Given the description of an element on the screen output the (x, y) to click on. 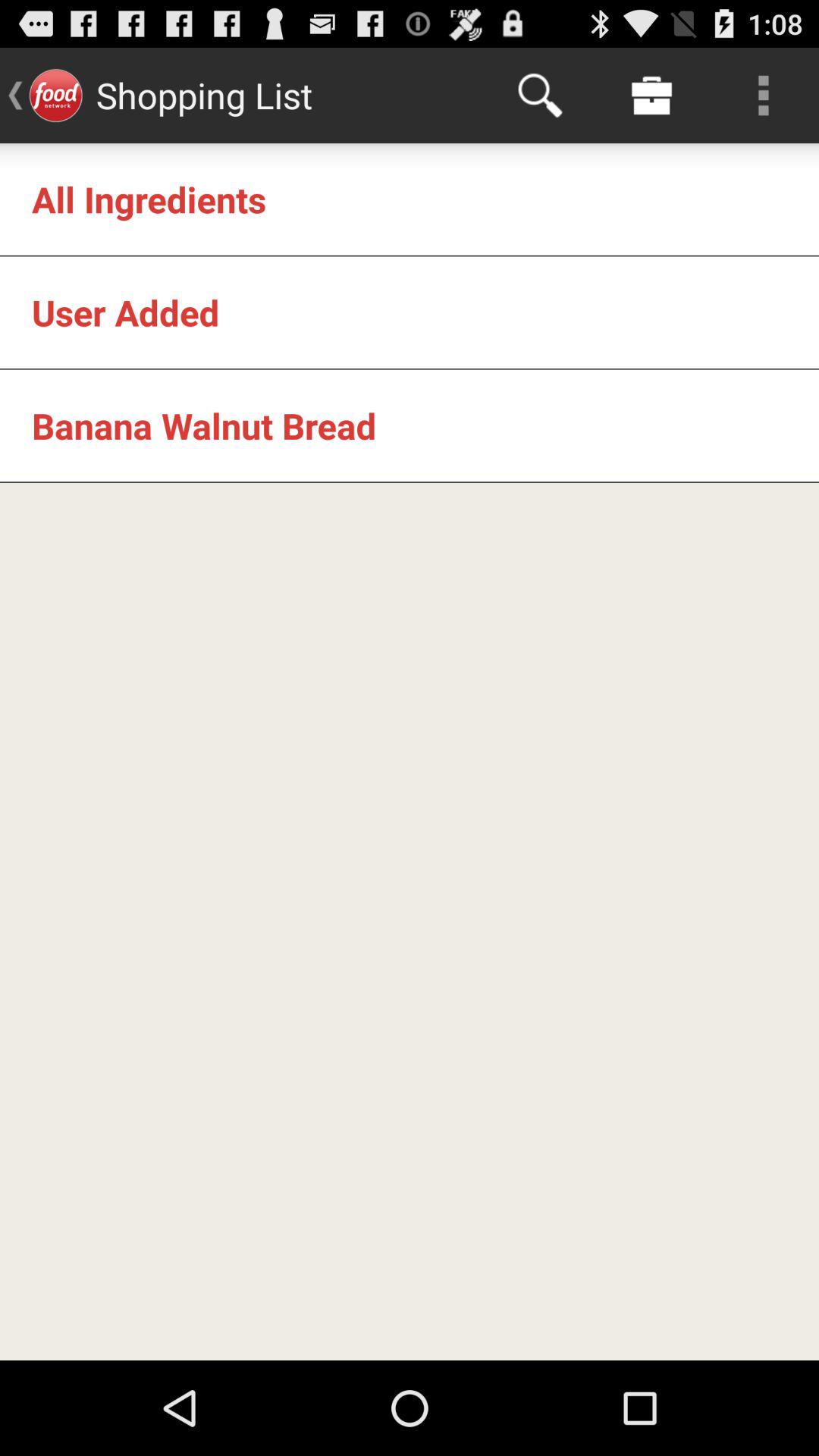
press the app below all ingredients icon (125, 312)
